Given the description of an element on the screen output the (x, y) to click on. 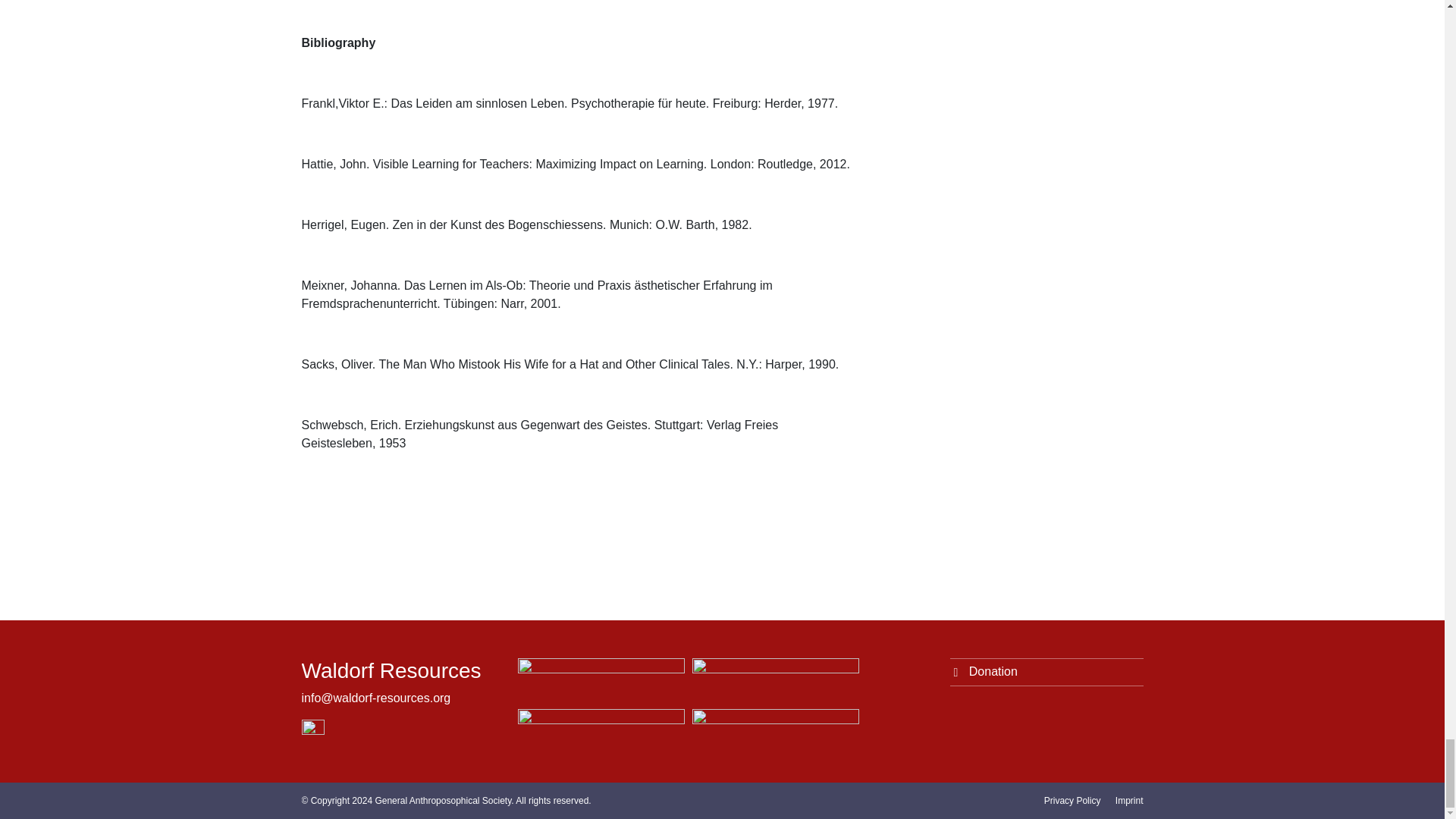
Donation (1045, 672)
Donation (1045, 672)
Privacy Policy (1071, 800)
Privacy Policy (1071, 800)
Imprint (1128, 800)
